Given the description of an element on the screen output the (x, y) to click on. 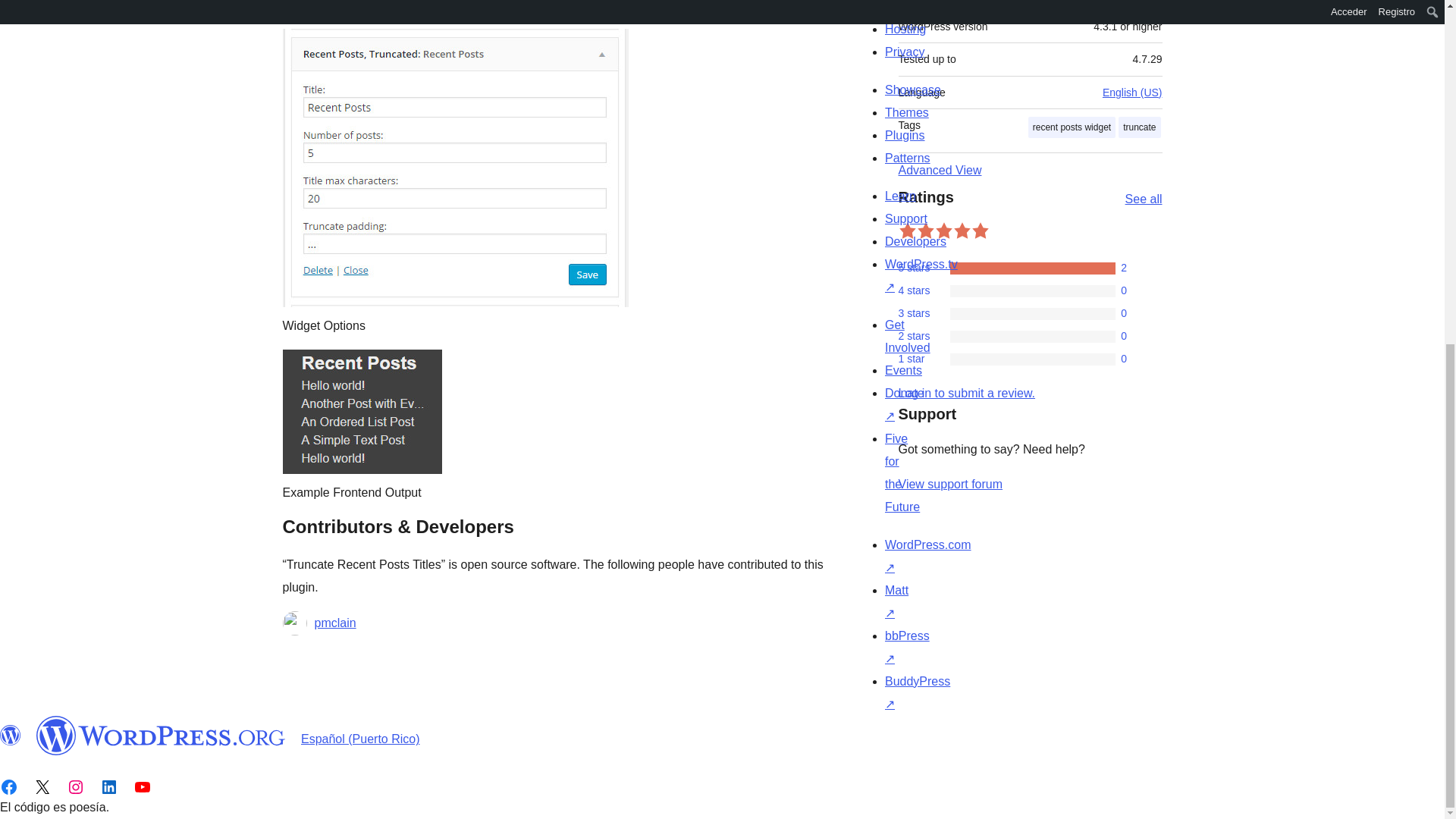
WordPress.org (10, 735)
pmclain (334, 622)
Log in to WordPress.org (966, 392)
WordPress.org (160, 735)
